Given the description of an element on the screen output the (x, y) to click on. 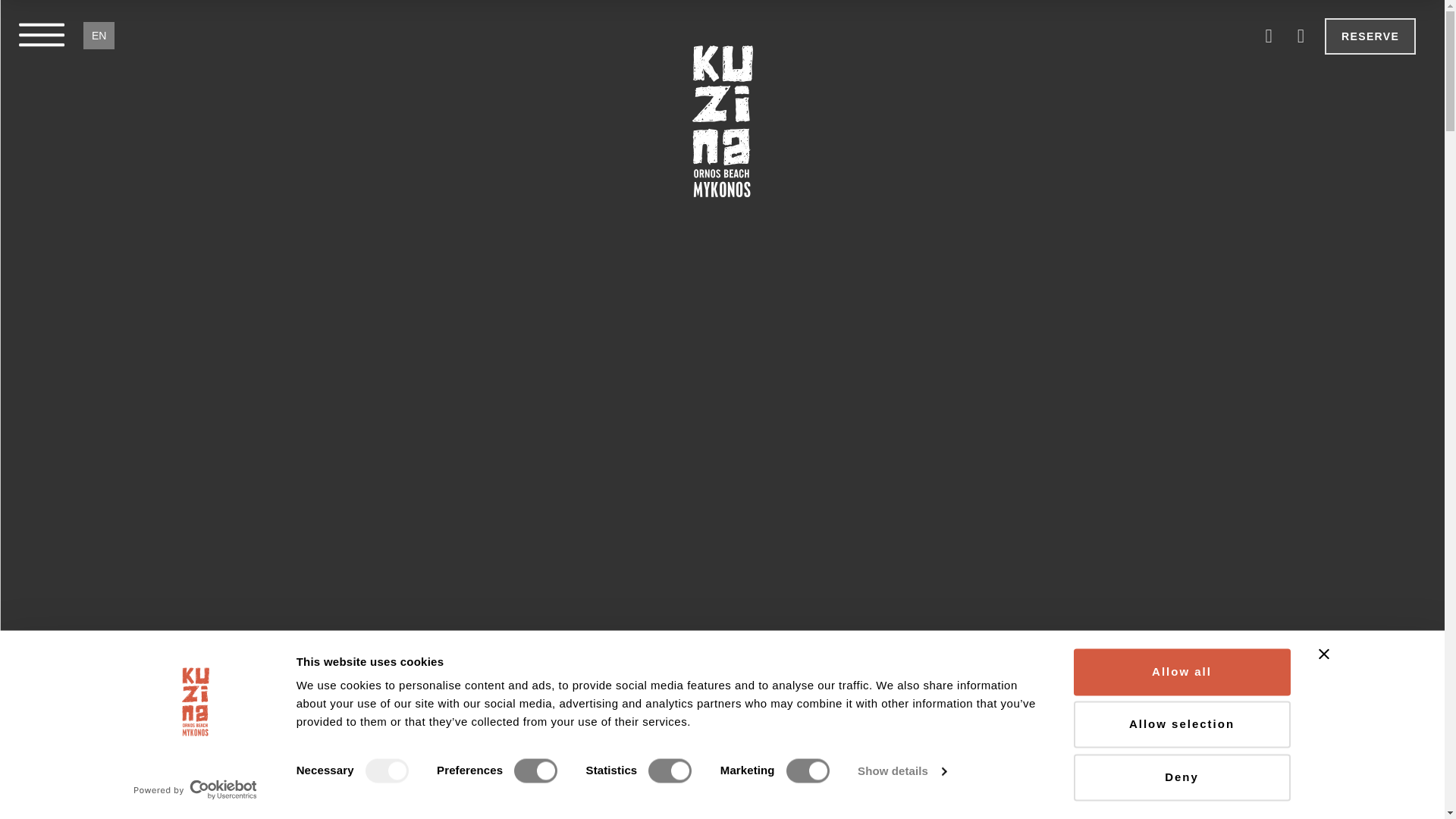
Deny (1182, 776)
Allow selection (1182, 724)
Allow all (1182, 671)
Show details (900, 771)
